Given the description of an element on the screen output the (x, y) to click on. 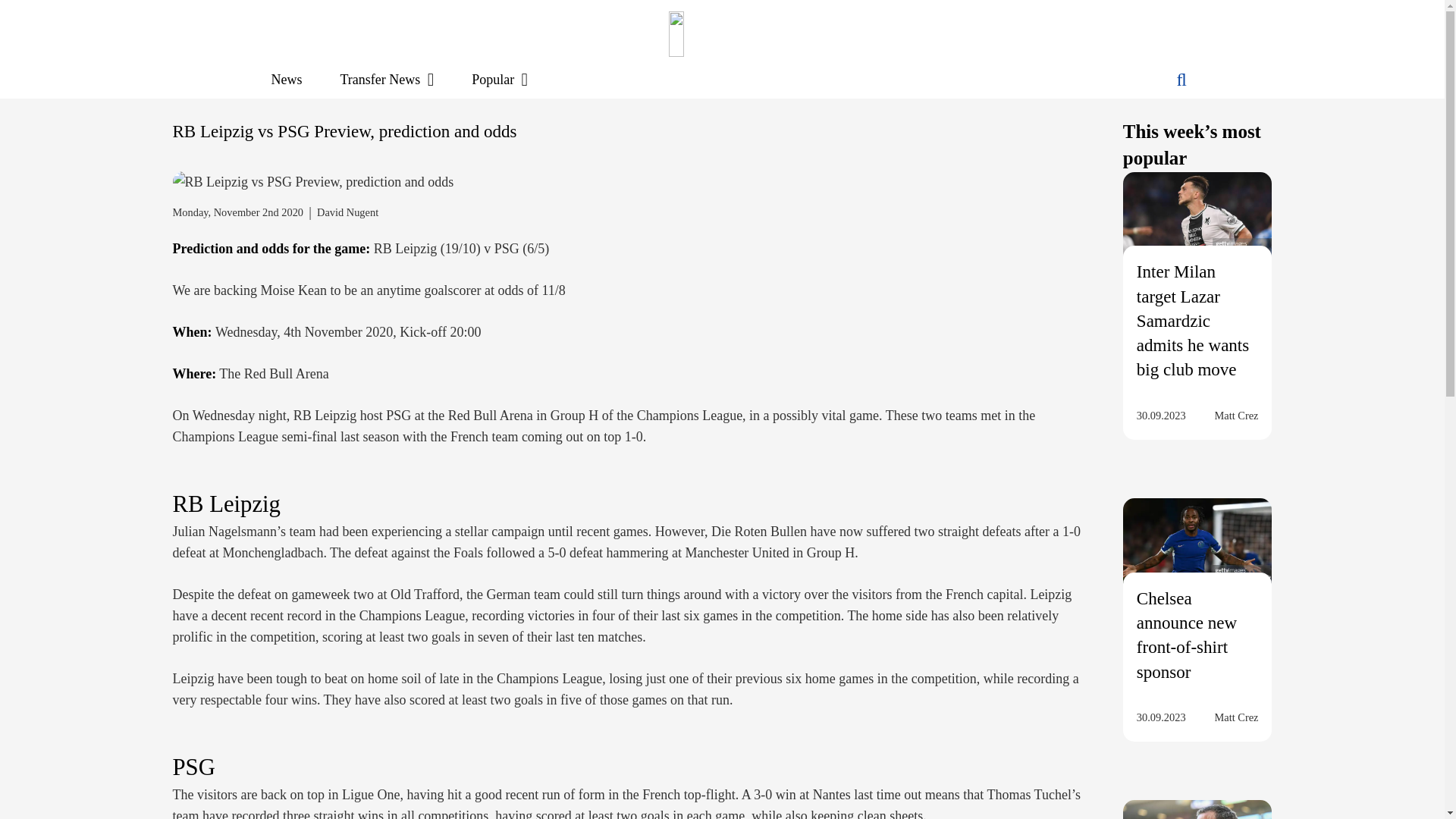
News (285, 79)
Matt Crez (1236, 414)
Chelsea announce new front-of-shirt sponsor (1186, 634)
Matt Crez (1236, 717)
Popular (499, 79)
RB Leipzig vs PSG Preview, prediction and odds (313, 181)
David Nugent (347, 211)
Chelsea announce new front-of-shirt sponsor (1197, 553)
Transfer News (386, 79)
